Given the description of an element on the screen output the (x, y) to click on. 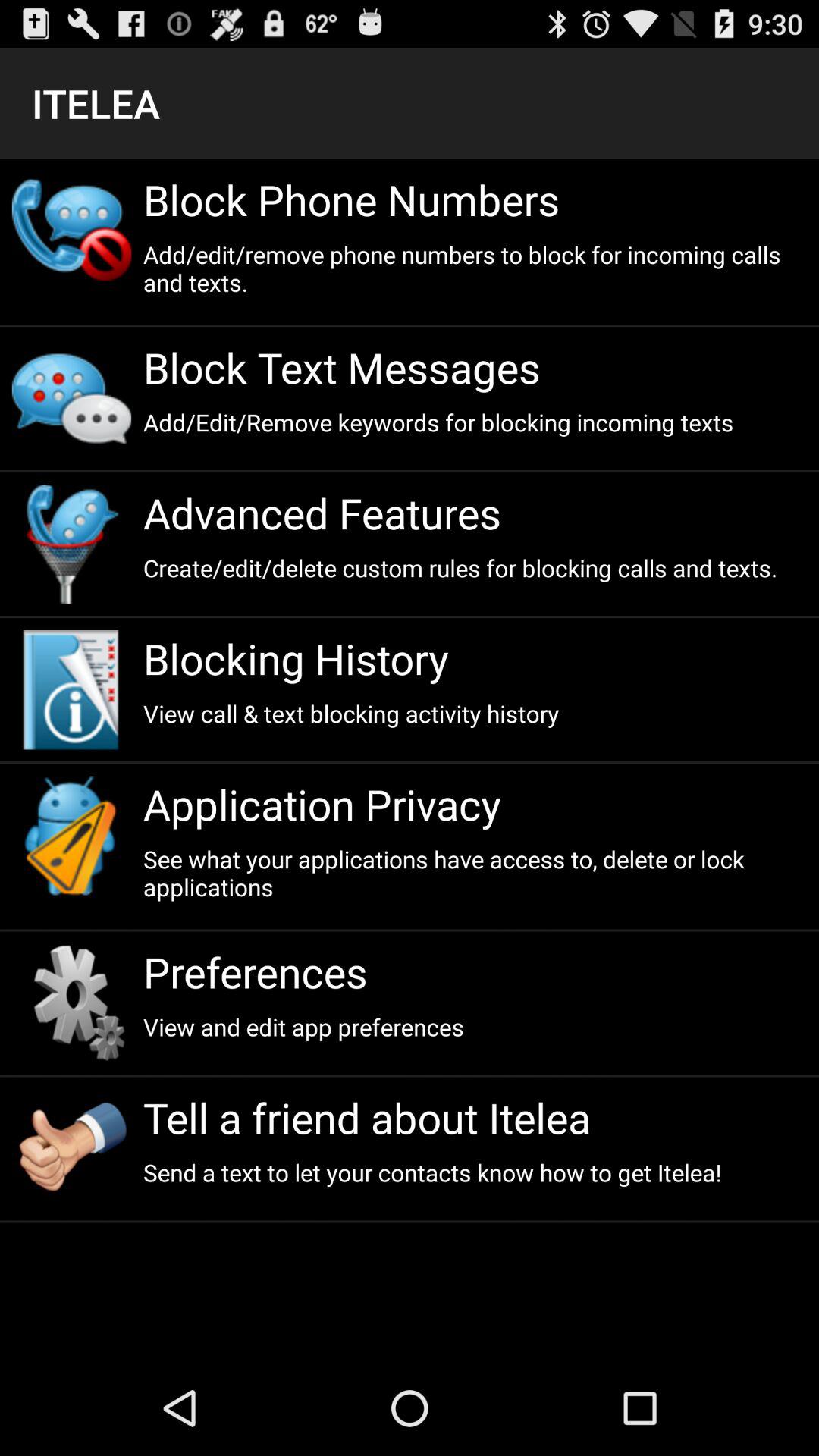
swipe until the view call text icon (475, 713)
